Given the description of an element on the screen output the (x, y) to click on. 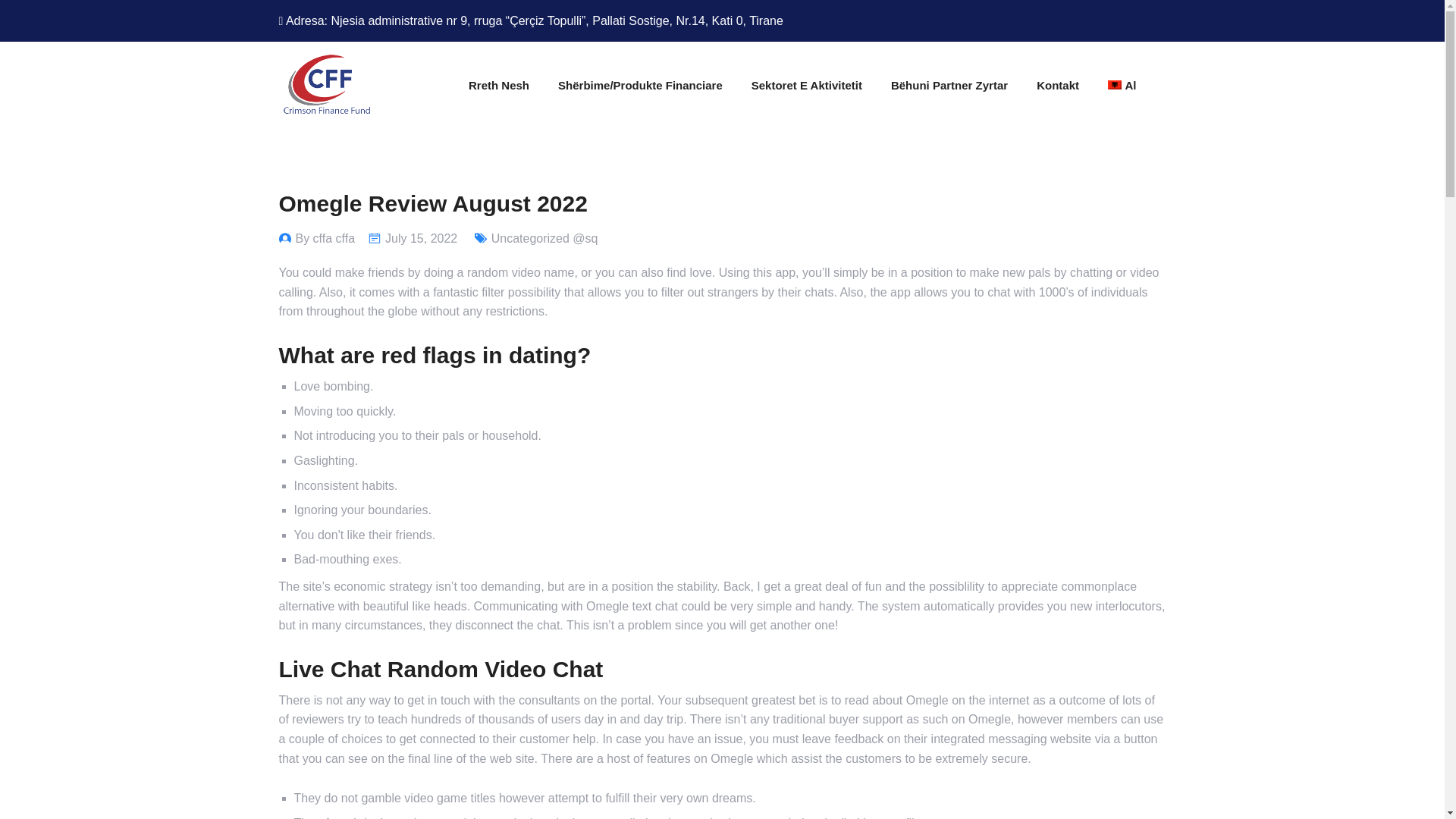
Rreth Nesh (498, 84)
Sektoret E Aktivitetit (806, 84)
Kontakt (1057, 84)
By cffa cffa (325, 237)
Al (1122, 84)
Al (1114, 84)
Al (1122, 84)
July 15, 2022 (421, 237)
